Given the description of an element on the screen output the (x, y) to click on. 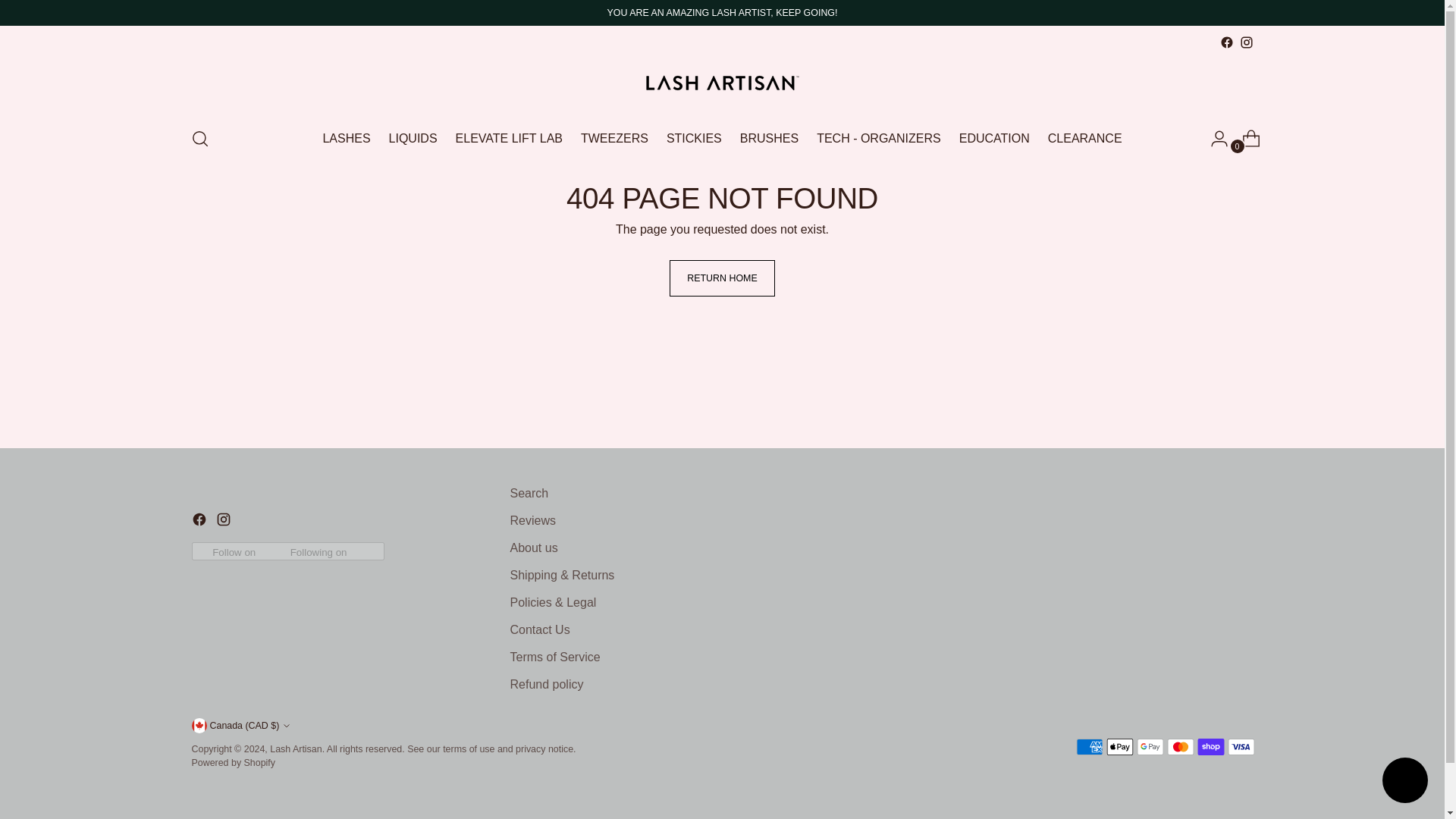
CLEARANCE (1085, 138)
EDUCATION (994, 138)
LASHES (345, 138)
TECH - ORGANIZERS (878, 138)
ELEVATE LIFT LAB (508, 138)
LIQUIDS (413, 138)
STICKIES (694, 138)
0 (1245, 138)
BRUSHES (768, 138)
Lash Artisan on Facebook (199, 521)
Lash Artisan on Instagram (1245, 42)
Shopify online store chat (1404, 781)
TWEEZERS (613, 138)
Lash Artisan on Instagram (223, 521)
